Given the description of an element on the screen output the (x, y) to click on. 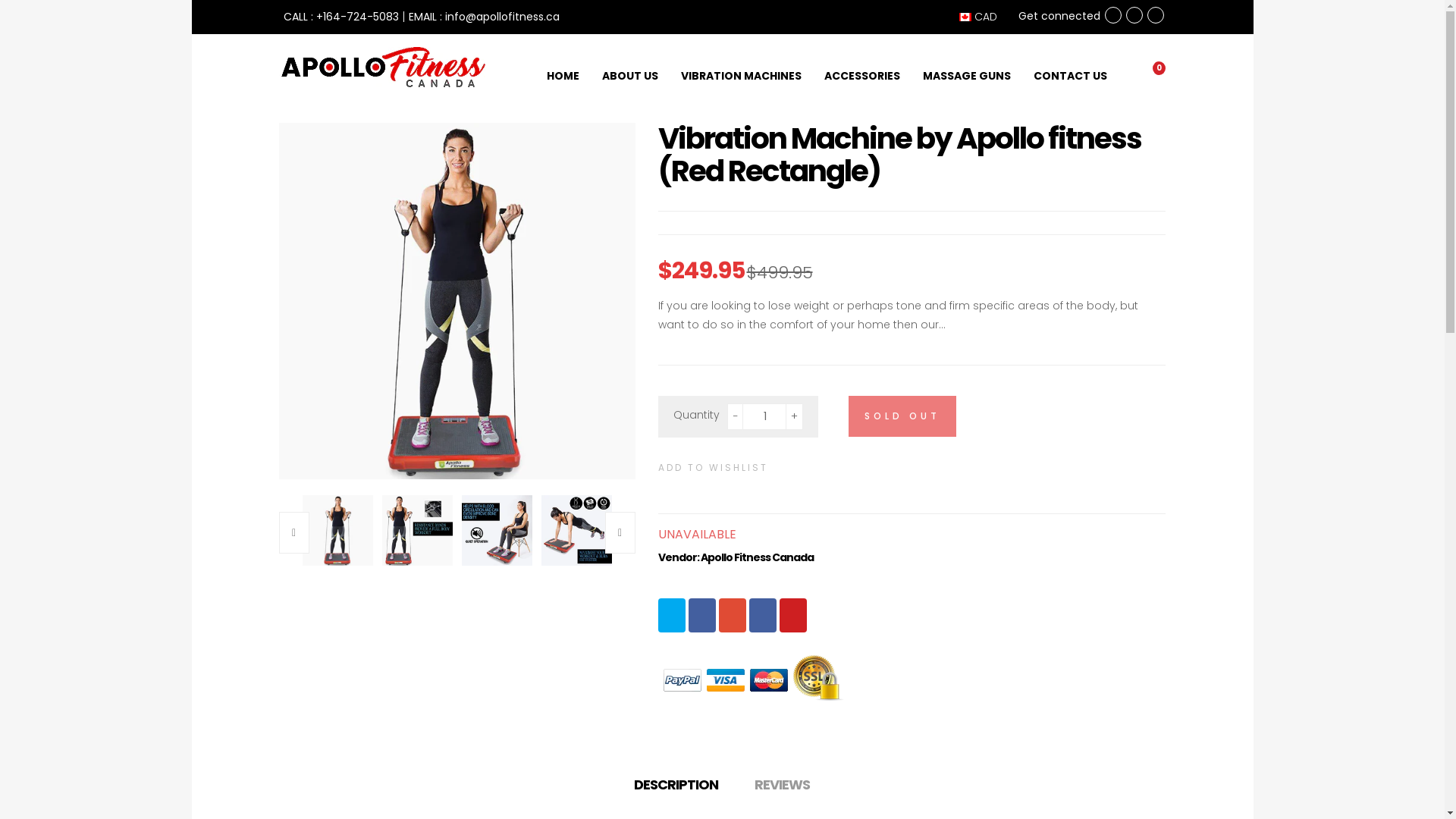
CONTACT US Element type: text (1070, 65)
LINKEDIN Element type: text (762, 615)
FACEBOOK Element type: text (701, 615)
SOLD OUT Element type: text (901, 415)
HOME Element type: text (562, 65)
PINTEREST Element type: text (792, 615)
info@apollofitness.ca Element type: text (501, 16)
Apollo Fitness Canada Element type: text (756, 556)
DESCRIPTION Element type: text (675, 784)
ADD TO WISHLIST Element type: text (713, 467)
MASSAGE GUNS Element type: text (966, 65)
VIBRATION MACHINES Element type: text (740, 65)
ABOUT US Element type: text (628, 65)
REVIEWS Element type: text (781, 784)
ACCESSORIES Element type: text (861, 65)
+164-724-5083 Element type: text (356, 16)
+ Element type: text (794, 416)
TWEET Element type: text (671, 615)
GOOGLE+ Element type: text (732, 615)
